Given the description of an element on the screen output the (x, y) to click on. 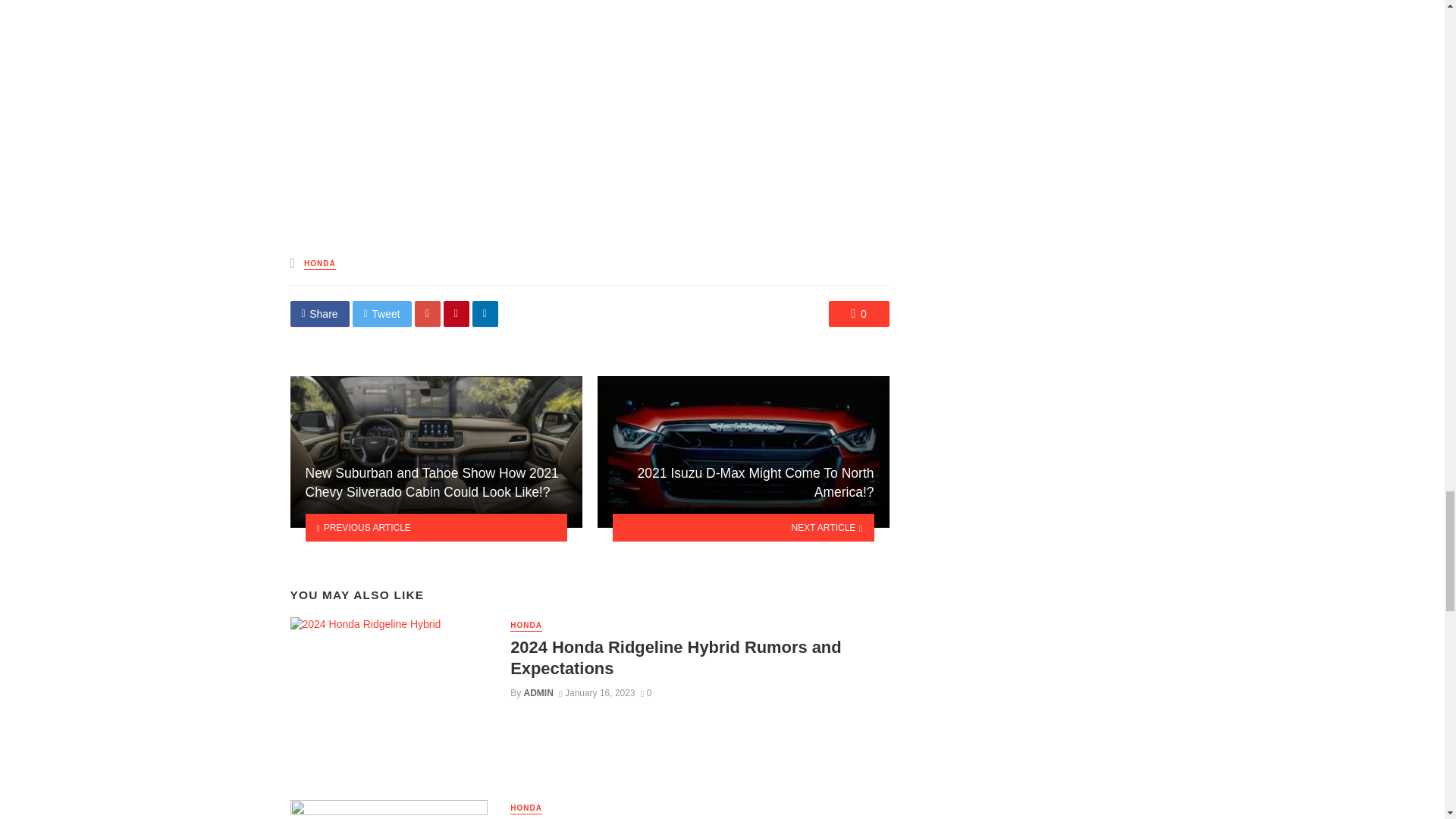
Share on Pinterest (456, 313)
Share on Linkedin (484, 313)
Share on Facebook (319, 313)
Share on Twitter (382, 313)
